Given the description of an element on the screen output the (x, y) to click on. 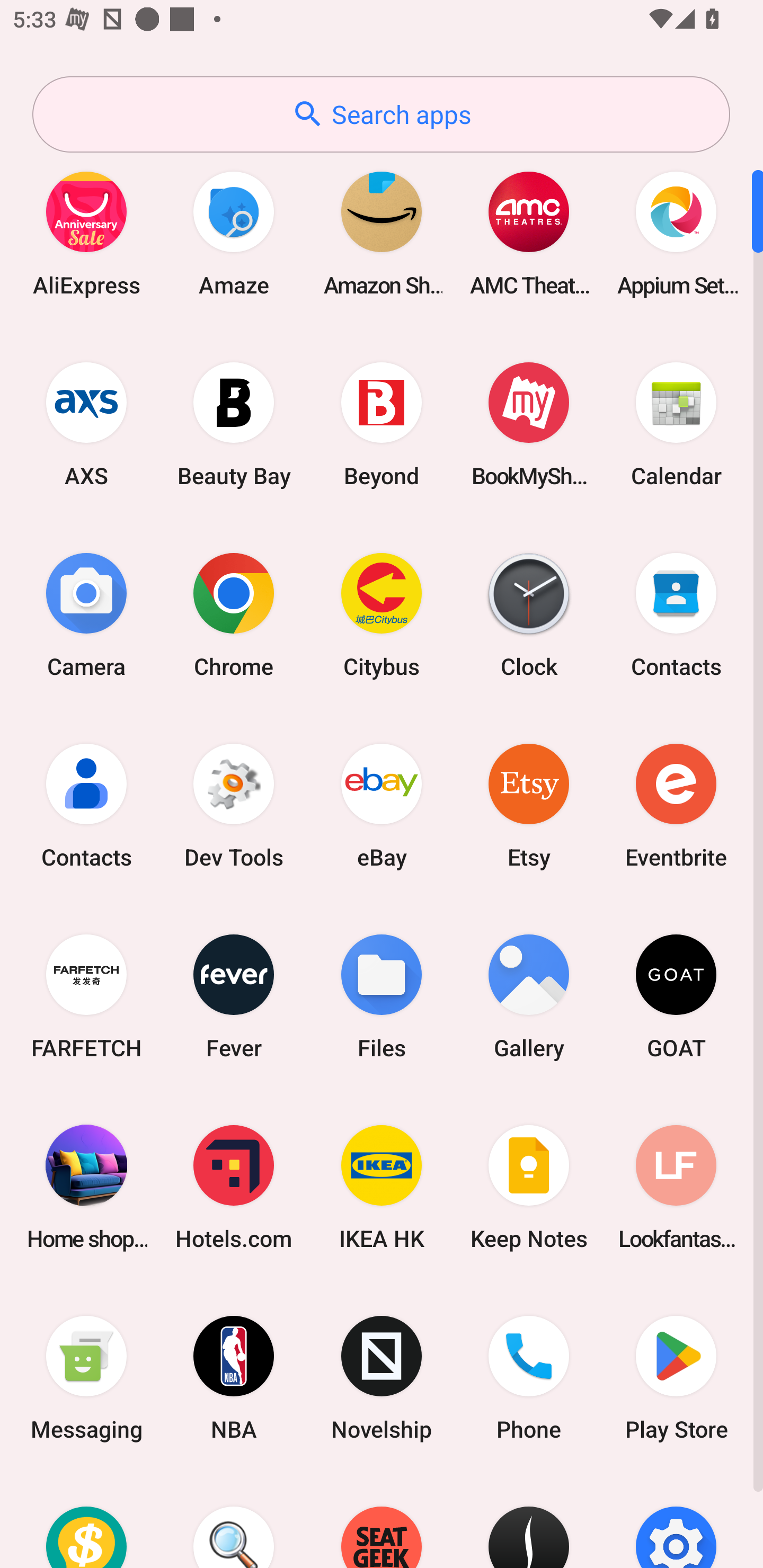
  Search apps (381, 114)
AliExpress (86, 233)
Amaze (233, 233)
Amazon Shopping (381, 233)
AMC Theatres (528, 233)
Appium Settings (676, 233)
AXS (86, 424)
Beauty Bay (233, 424)
Beyond (381, 424)
BookMyShow (528, 424)
Calendar (676, 424)
Camera (86, 614)
Chrome (233, 614)
Citybus (381, 614)
Clock (528, 614)
Contacts (676, 614)
Contacts (86, 805)
Dev Tools (233, 805)
eBay (381, 805)
Etsy (528, 805)
Eventbrite (676, 805)
FARFETCH (86, 996)
Fever (233, 996)
Files (381, 996)
Gallery (528, 996)
GOAT (676, 996)
Home shopping (86, 1186)
Hotels.com (233, 1186)
IKEA HK (381, 1186)
Keep Notes (528, 1186)
Lookfantastic (676, 1186)
Messaging (86, 1377)
NBA (233, 1377)
Novelship (381, 1377)
Phone (528, 1377)
Play Store (676, 1377)
Price (86, 1520)
Search (233, 1520)
SeatGeek (381, 1520)
Sephora (528, 1520)
Settings (676, 1520)
